Given the description of an element on the screen output the (x, y) to click on. 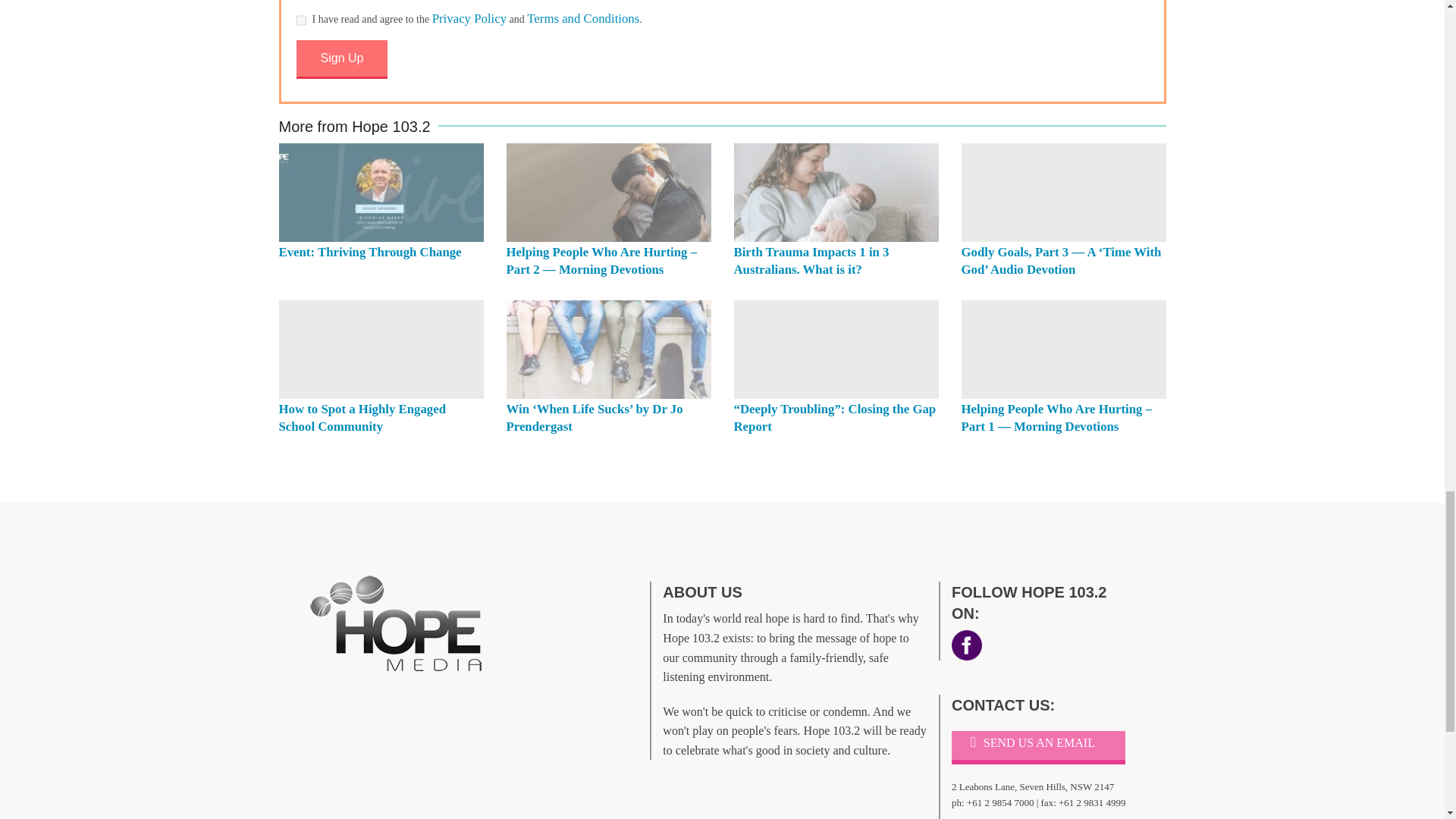
Event: Thriving Through Change (370, 251)
Sign Up (341, 59)
Birth Trauma Impacts 1 in 3 Australians. What is it? (811, 260)
Event: Thriving Through Change (381, 192)
How to Spot a Highly Engaged School Community (381, 349)
Birth Trauma Impacts 1 in 3 Australians. What is it? (836, 192)
How to Spot a Highly Engaged School Community (362, 418)
